Given the description of an element on the screen output the (x, y) to click on. 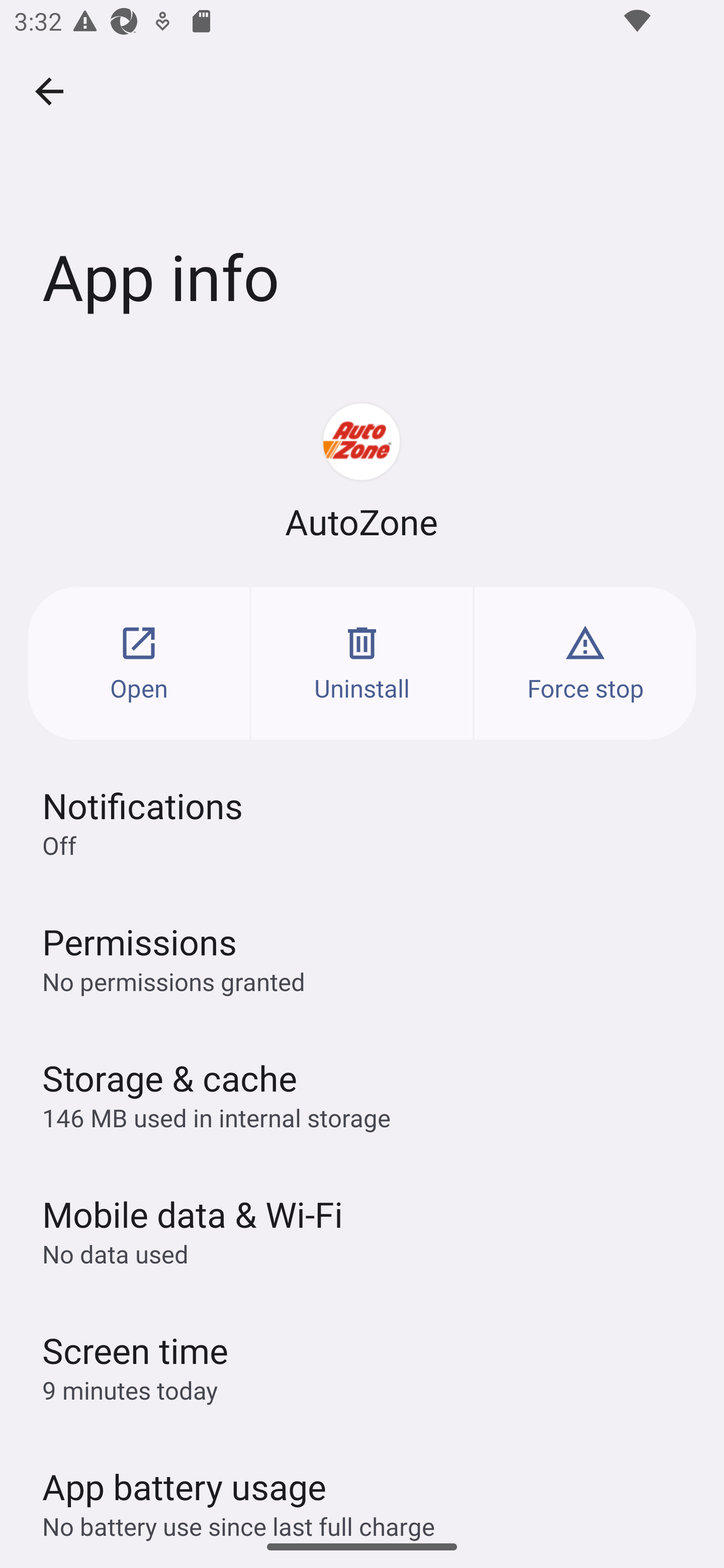
Navigate up (49, 91)
Open (138, 663)
Uninstall (361, 663)
Force stop (584, 663)
Notifications Off (362, 822)
Permissions No permissions granted (362, 957)
Storage & cache 146 MB used in internal storage (362, 1093)
Mobile data & Wi‑Fi No data used (362, 1229)
Screen time 9 minutes today (362, 1366)
